Given the description of an element on the screen output the (x, y) to click on. 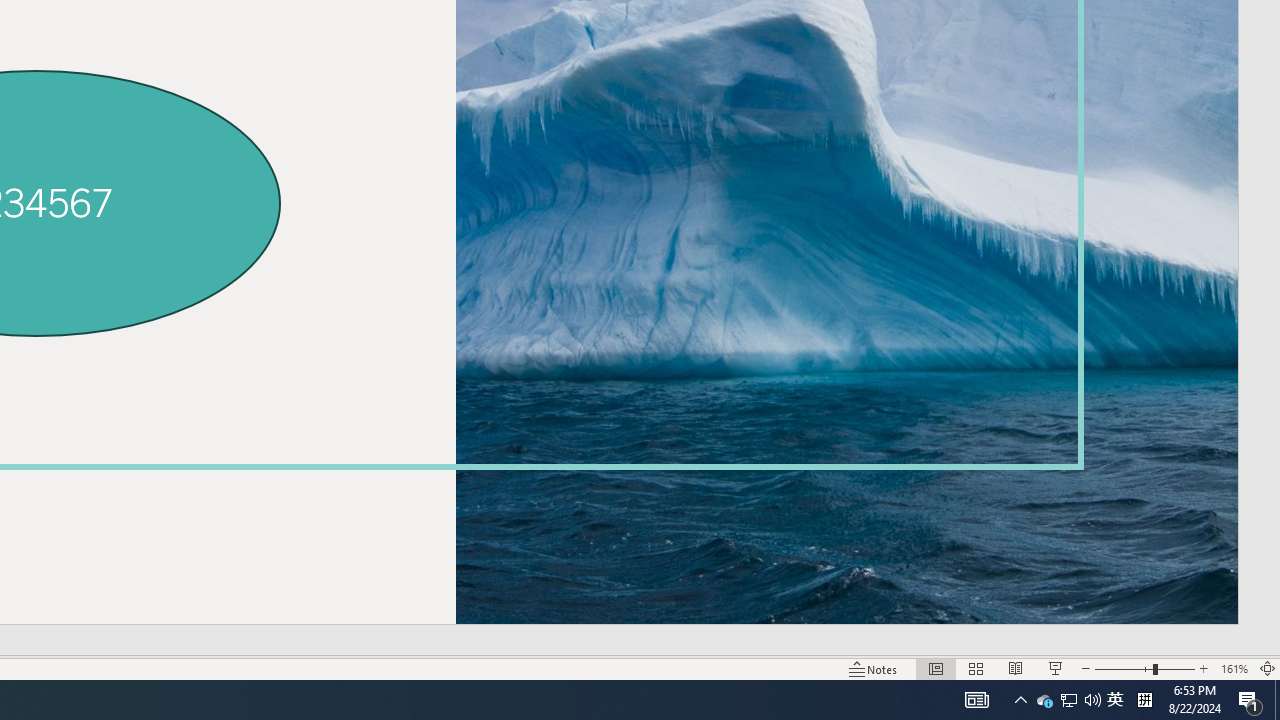
Zoom 161% (1234, 668)
